Given the description of an element on the screen output the (x, y) to click on. 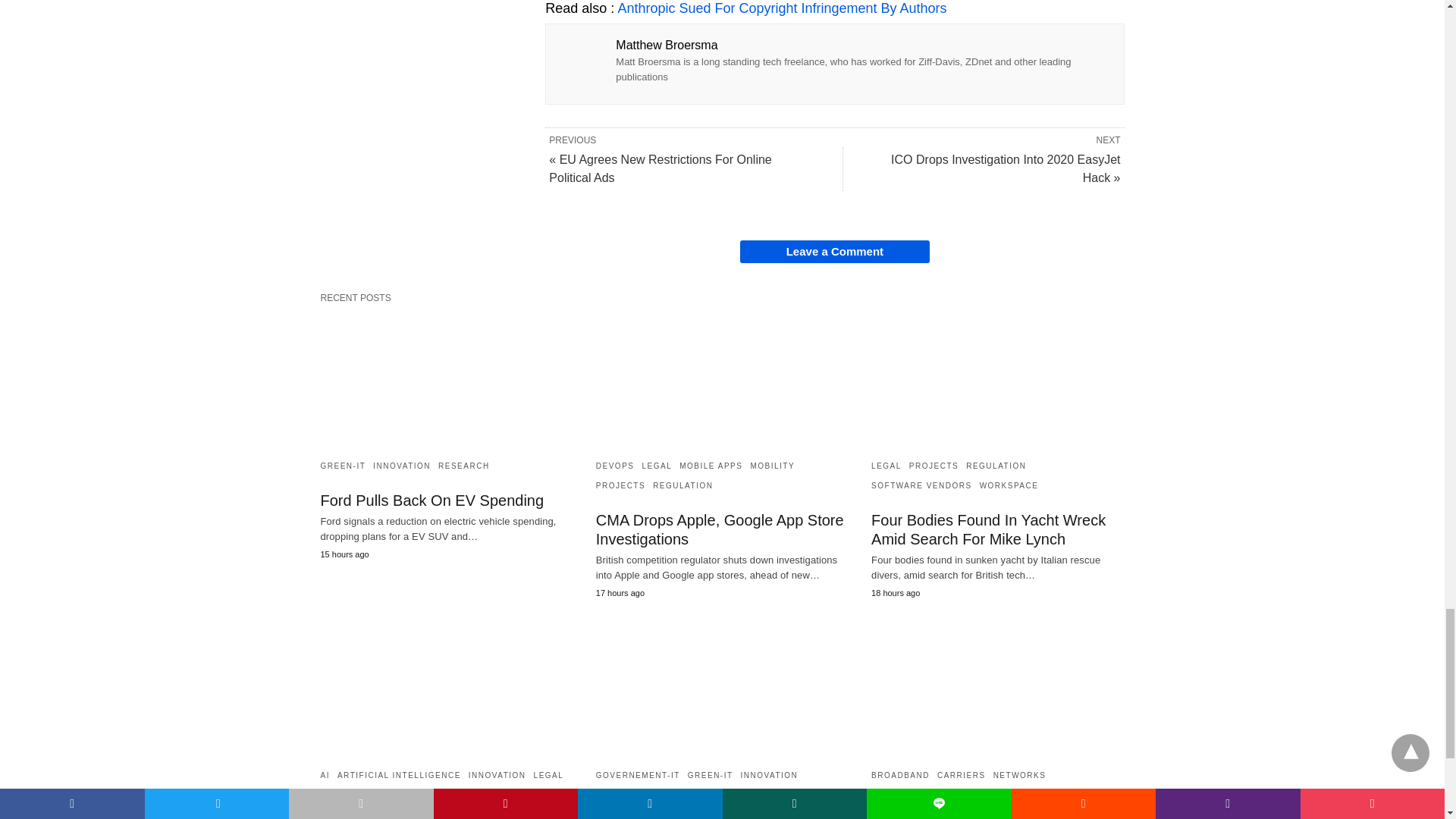
Leave a Comment (834, 251)
Leave a Comment (834, 251)
Anthropic Sued For Copyright Infringement By Authors (781, 7)
